Given the description of an element on the screen output the (x, y) to click on. 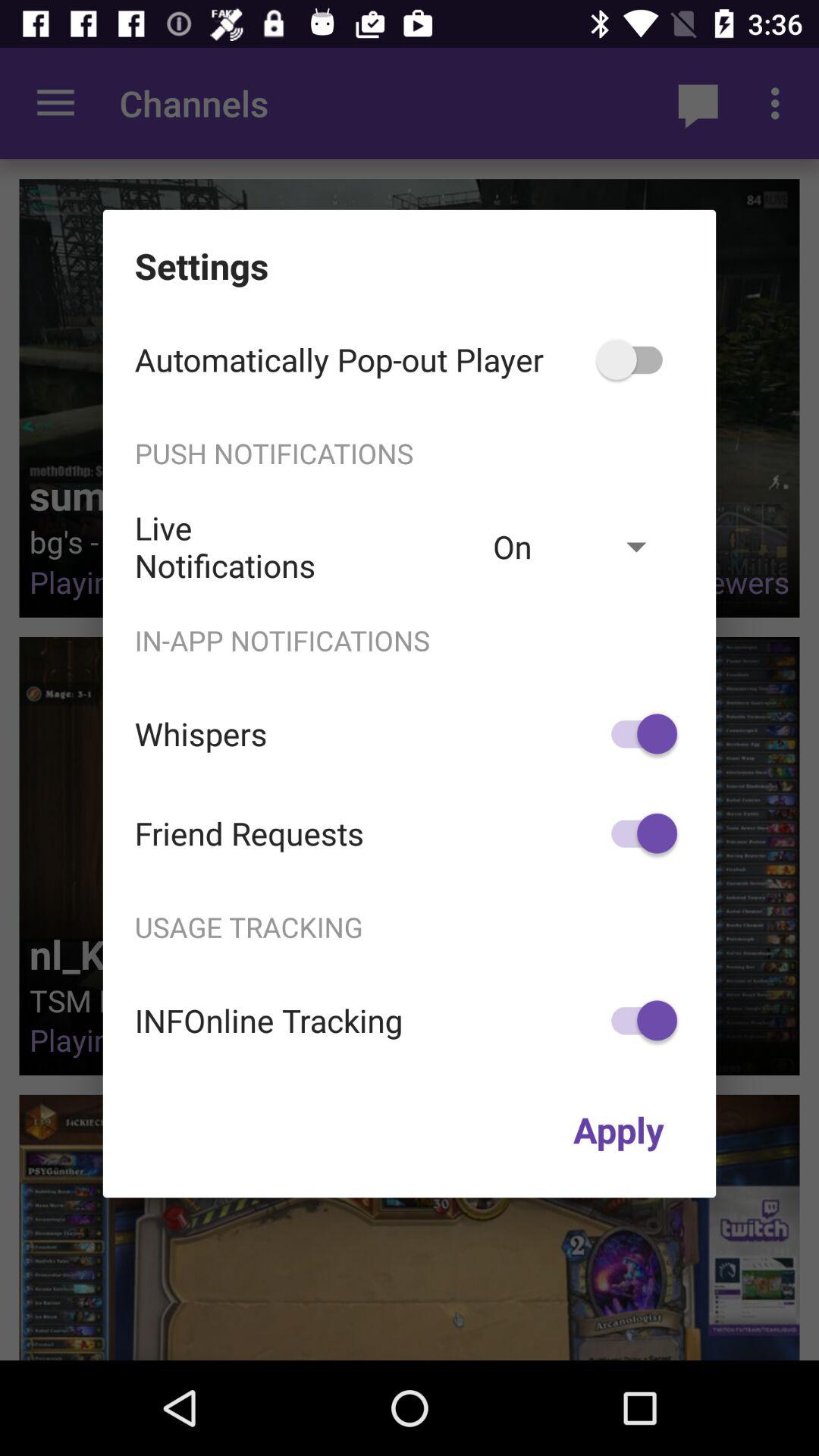
launch the item above the usage tracking (636, 833)
